Given the description of an element on the screen output the (x, y) to click on. 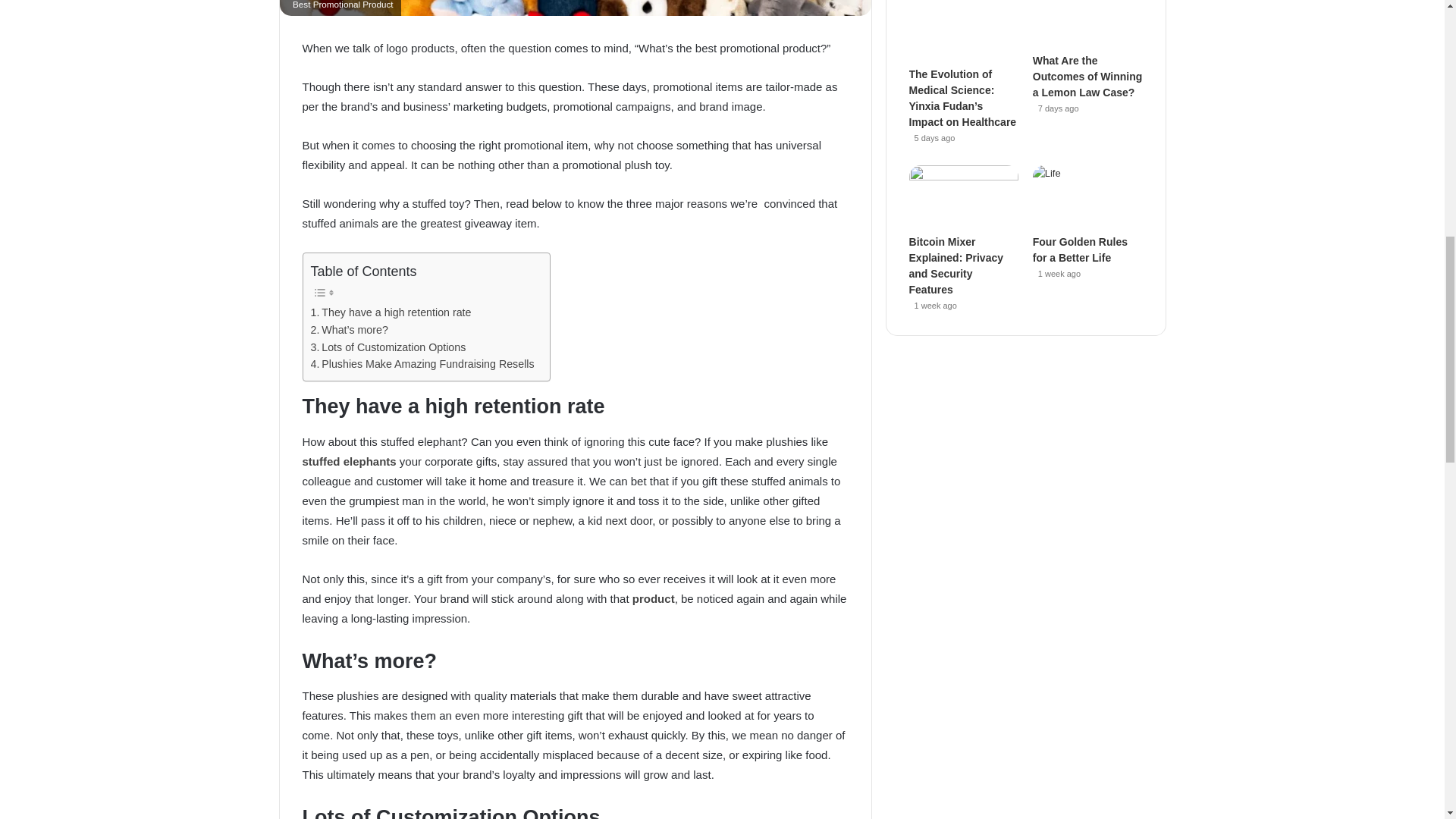
Plushies Make Amazing Fundraising Resells (422, 364)
stuffed elephants (348, 461)
Lots of Customization Options (388, 347)
Lots of Customization Options (388, 347)
They have a high retention rate (391, 312)
Plushies Make Amazing Fundraising Resells (422, 364)
They have a high retention rate (391, 312)
